Given the description of an element on the screen output the (x, y) to click on. 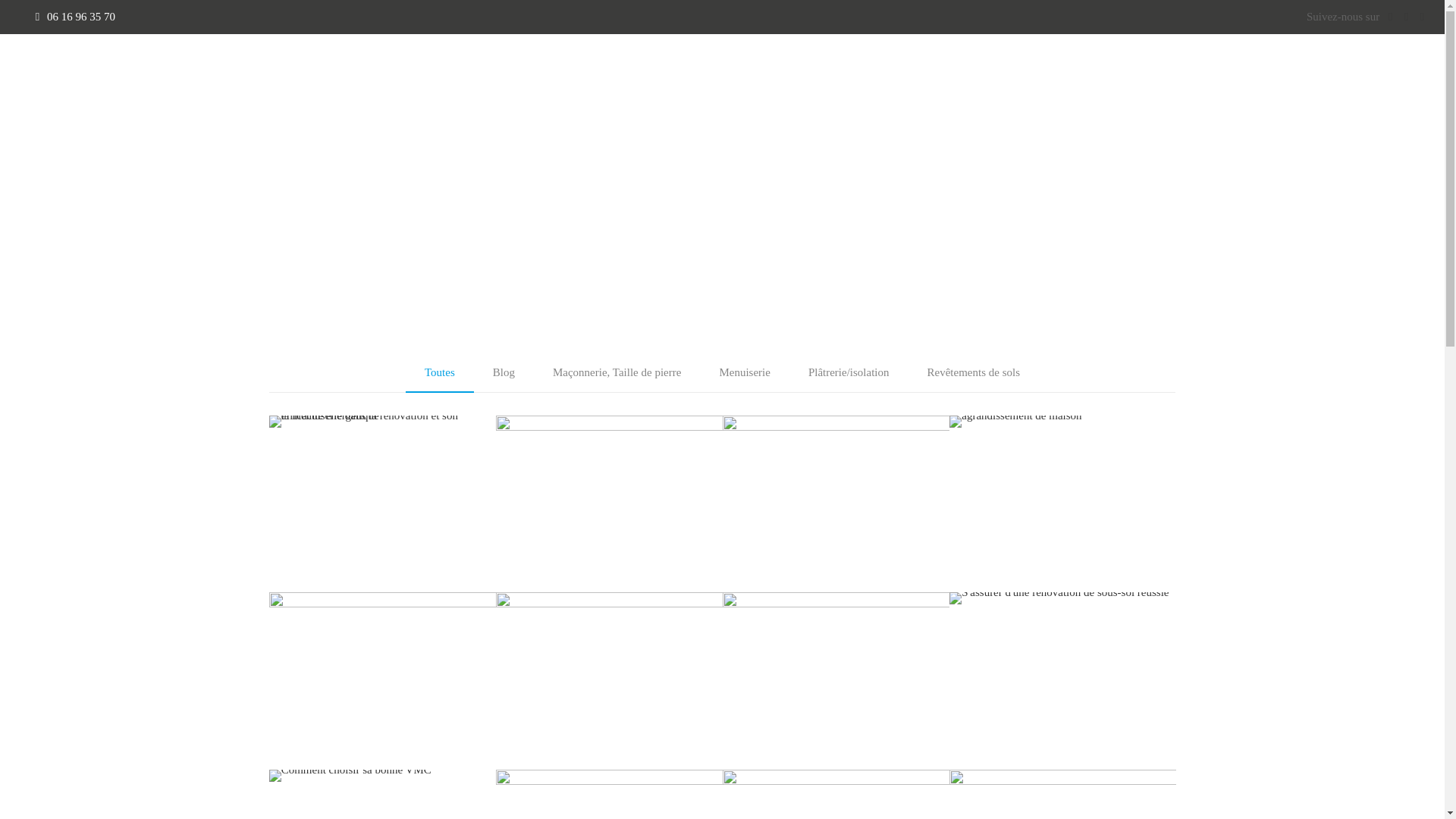
06 16 96 35 70 Element type: text (81, 16)
Toutes Element type: text (439, 372)
Blog Element type: text (503, 372)
Menuiserie Element type: text (743, 372)
